Given the description of an element on the screen output the (x, y) to click on. 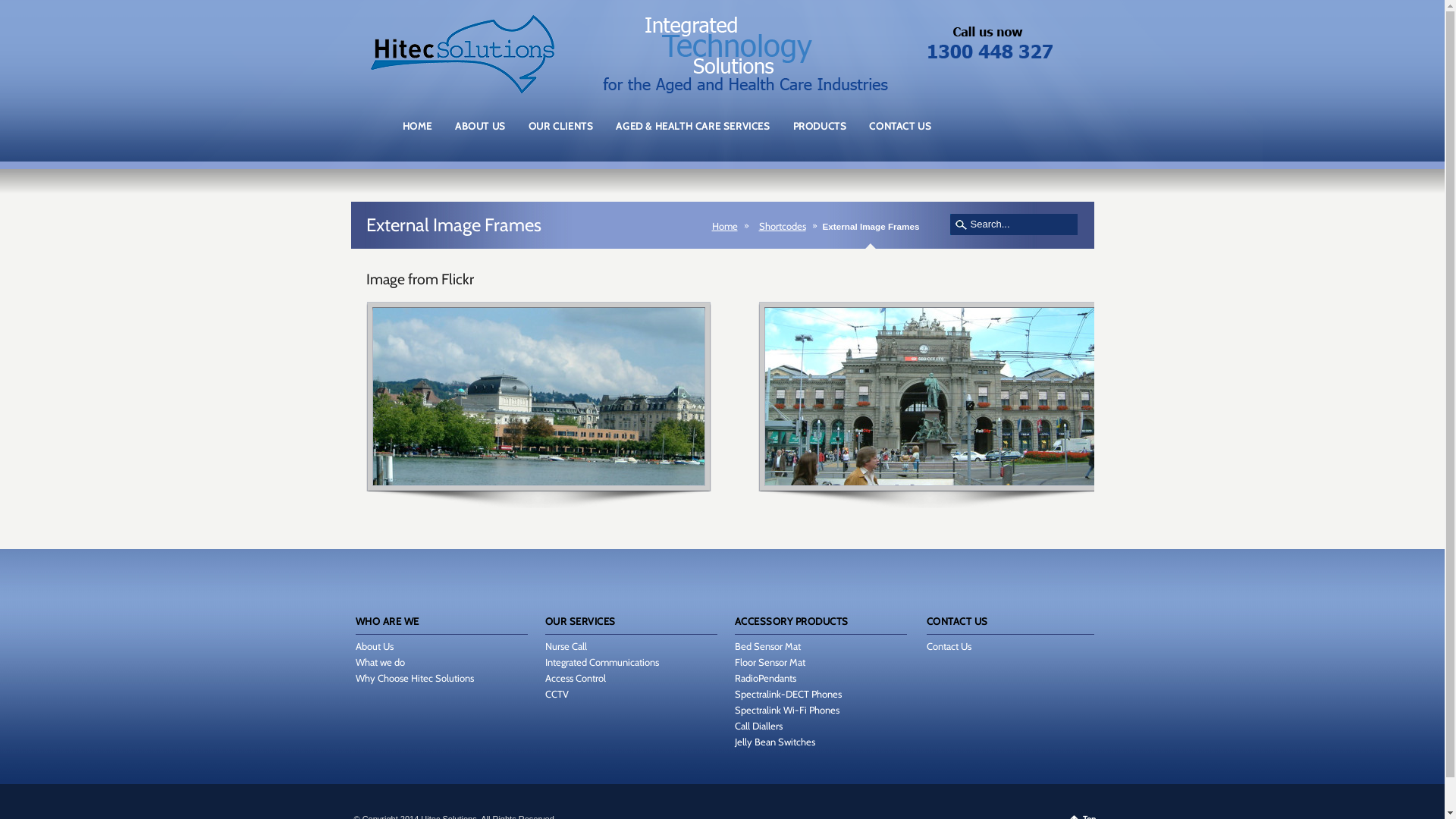
About Us Element type: text (373, 646)
ABOUT US Element type: text (480, 133)
Nurse Call Element type: text (565, 646)
Floor Sensor Mat Element type: text (769, 661)
Spectralink Wi-Fi Phones Element type: text (786, 709)
Jelly Bean Switches Element type: text (774, 741)
AGED & HEALTH CARE SERVICES Element type: text (692, 133)
CONTACT US Element type: text (900, 133)
Home Element type: text (727, 225)
What we do Element type: text (379, 661)
PRODUCTS Element type: text (820, 133)
Integrated Communications Element type: text (601, 661)
Contact Us Element type: text (948, 646)
HOME Element type: text (416, 133)
search Element type: text (960, 224)
RadioPendants Element type: text (764, 677)
Spectralink-DECT Phones Element type: text (787, 693)
Bed Sensor Mat Element type: text (767, 646)
CCTV Element type: text (555, 693)
Call Diallers Element type: text (757, 725)
Access Control Element type: text (574, 677)
Shortcodes Element type: text (785, 225)
OUR CLIENTS Element type: text (560, 133)
Why Choose Hitec Solutions Element type: text (413, 677)
